Given the description of an element on the screen output the (x, y) to click on. 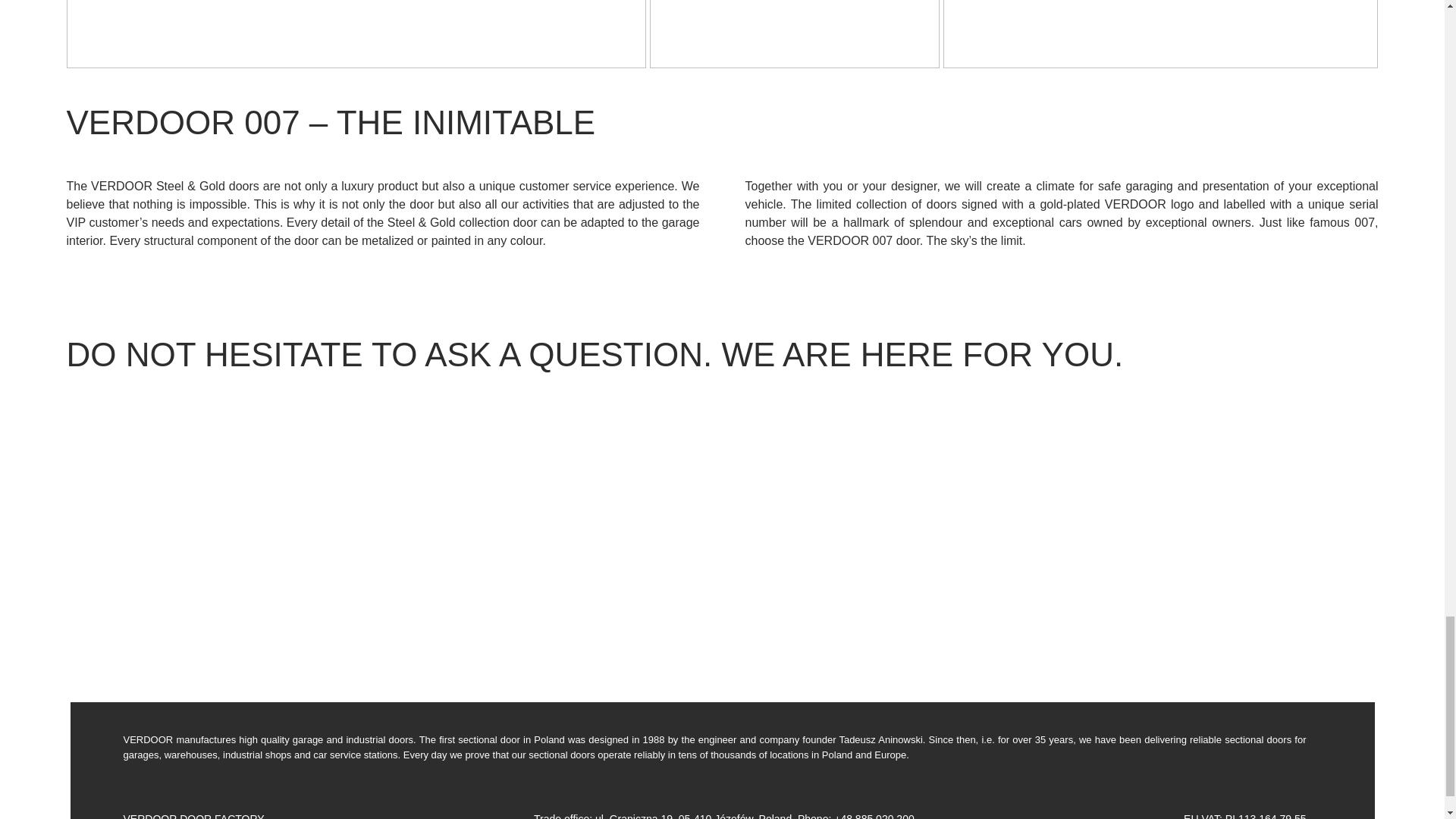
BECOME OUR DISTRIBUTOR (1213, 552)
DOWNLOAD CATALOGUES (885, 552)
WRITE OR GIVE US A CALL (229, 552)
ON-LINE QUOTE (558, 552)
